Given the description of an element on the screen output the (x, y) to click on. 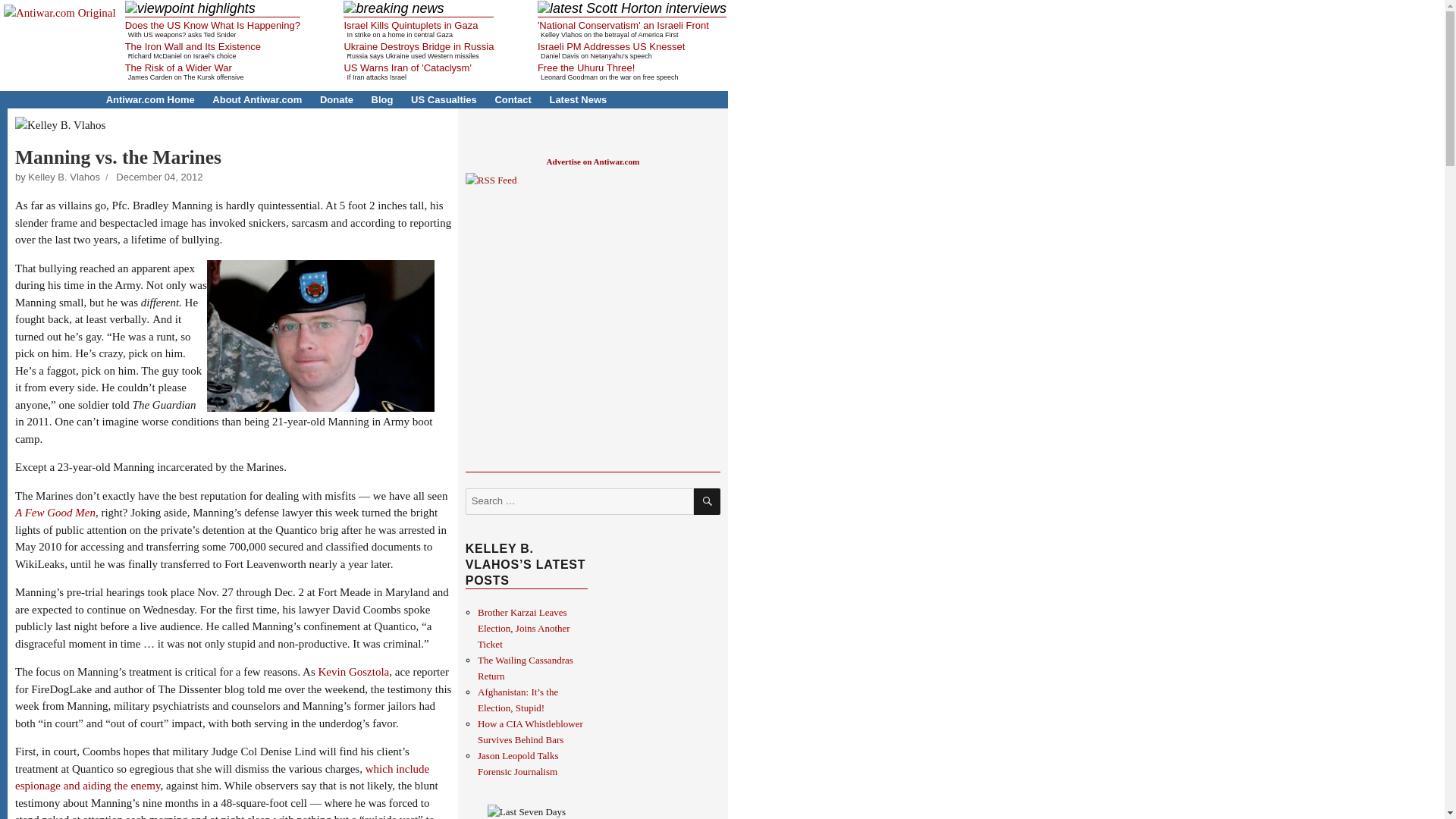
Does the US Know What Is Happening? (212, 25)
which include espionage and aiding the enemy (221, 777)
A Few Good Men (55, 512)
Antiwar.com Home (150, 99)
The Risk of a Wider War (178, 67)
Israeli PM Addresses US Knesset (610, 46)
Latest News (577, 99)
'National Conservatism' an Israeli Front (623, 25)
Israel Kills Quintuplets in Gaza (410, 25)
US Warns Iran of 'Cataclysm' (406, 67)
